Given the description of an element on the screen output the (x, y) to click on. 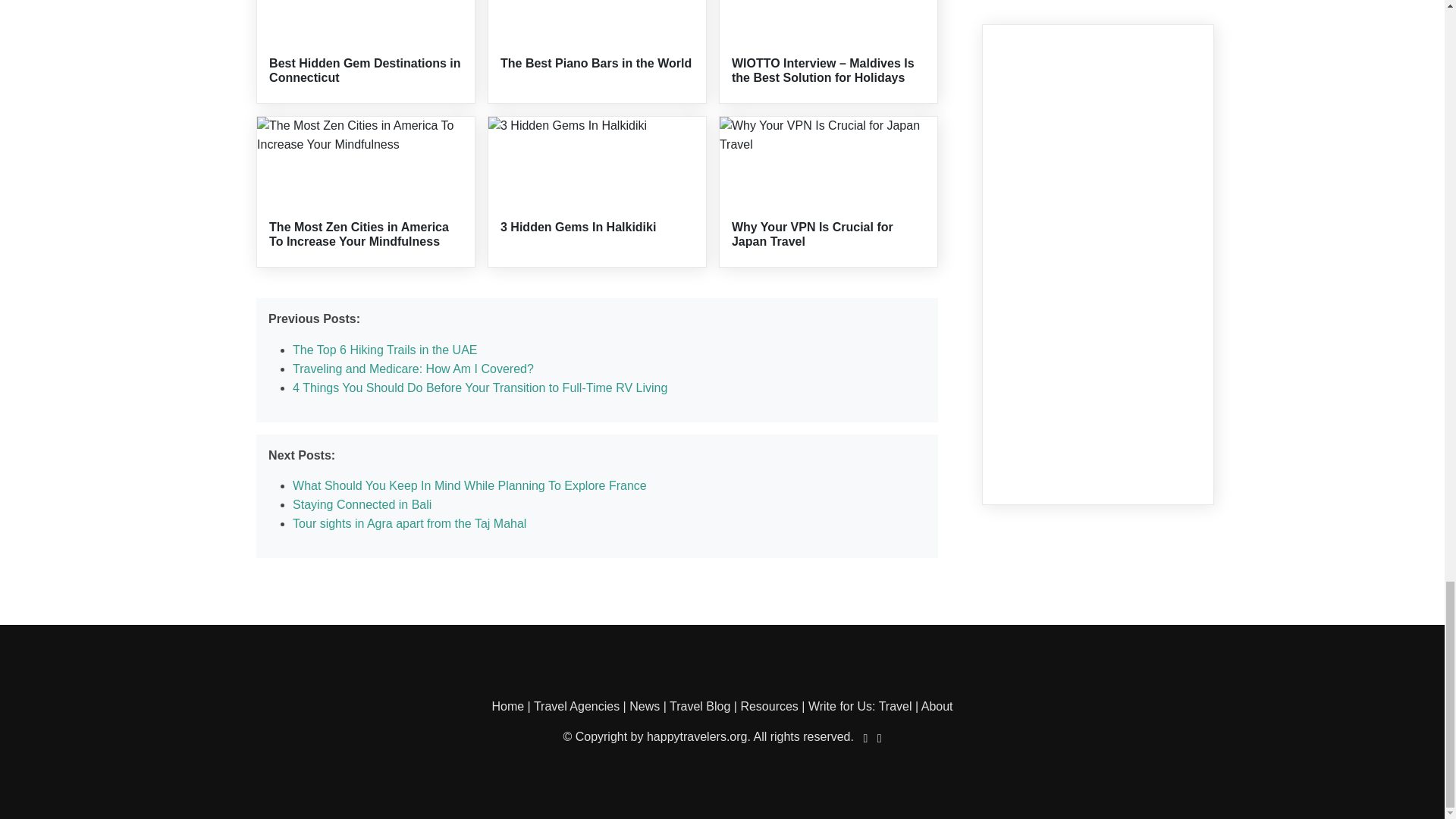
Why Your VPN Is Crucial for Japan Travel (812, 234)
The Top 6 Hiking Trails in the UAE (384, 349)
The Most Zen Cities in America To Increase Your Mindfulness (358, 234)
Traveling and Medicare: How Am I Covered? (413, 368)
Tour sights in Agra apart from the Taj Mahal (408, 522)
Best Hidden Gem Destinations in Connecticut (364, 70)
Staying Connected in Bali (361, 504)
3 Hidden Gems In Halkidiki (578, 226)
